Given the description of an element on the screen output the (x, y) to click on. 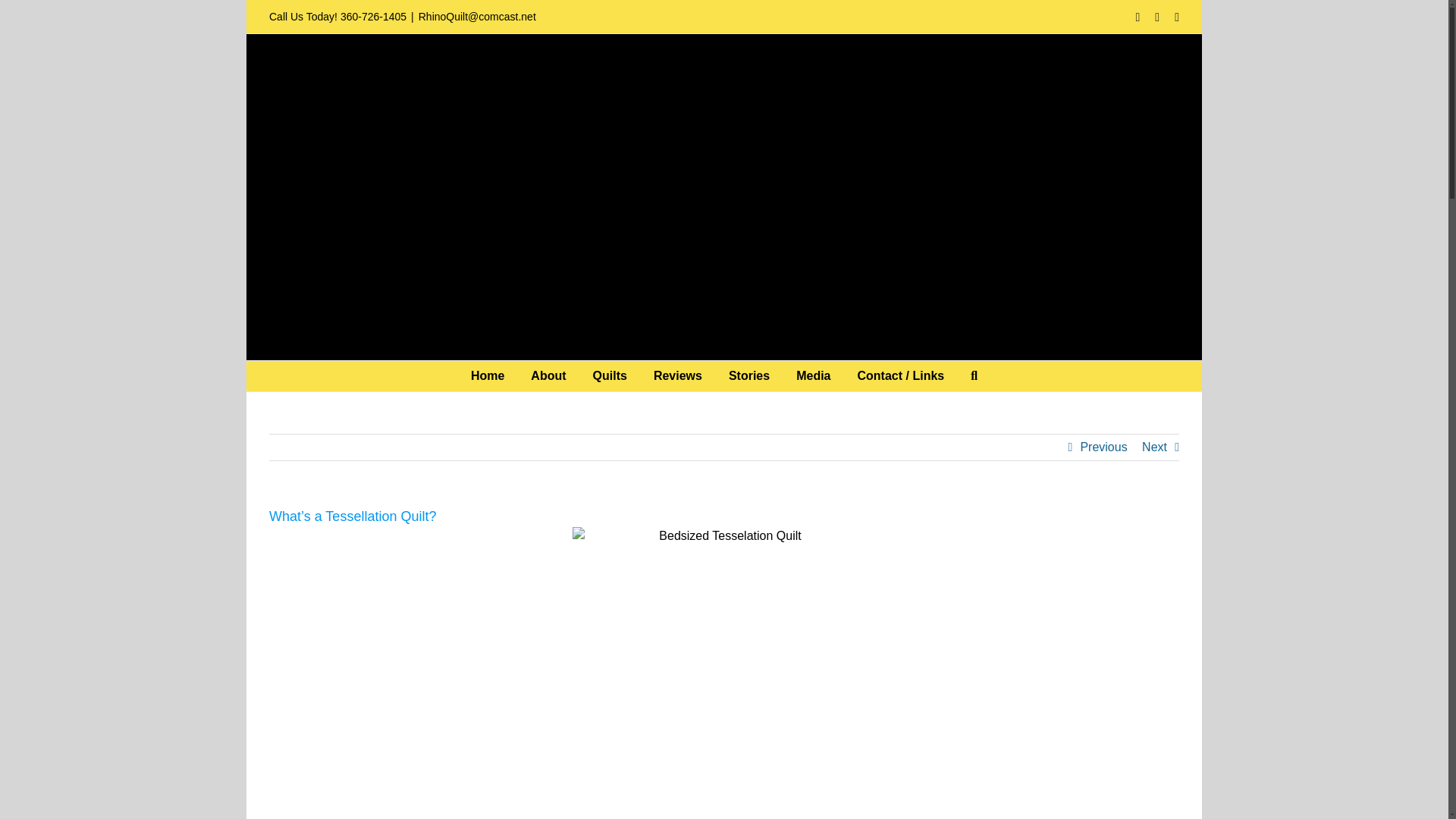
About Rhino Quilting (548, 376)
Reviews (677, 376)
About (548, 376)
Media (812, 376)
Home (486, 376)
Lime Pie Quilt Resized (724, 673)
Quilts (609, 376)
360-726-1405 (373, 16)
Welcome to Rhino Quilting (486, 376)
Stories (749, 376)
